Given the description of an element on the screen output the (x, y) to click on. 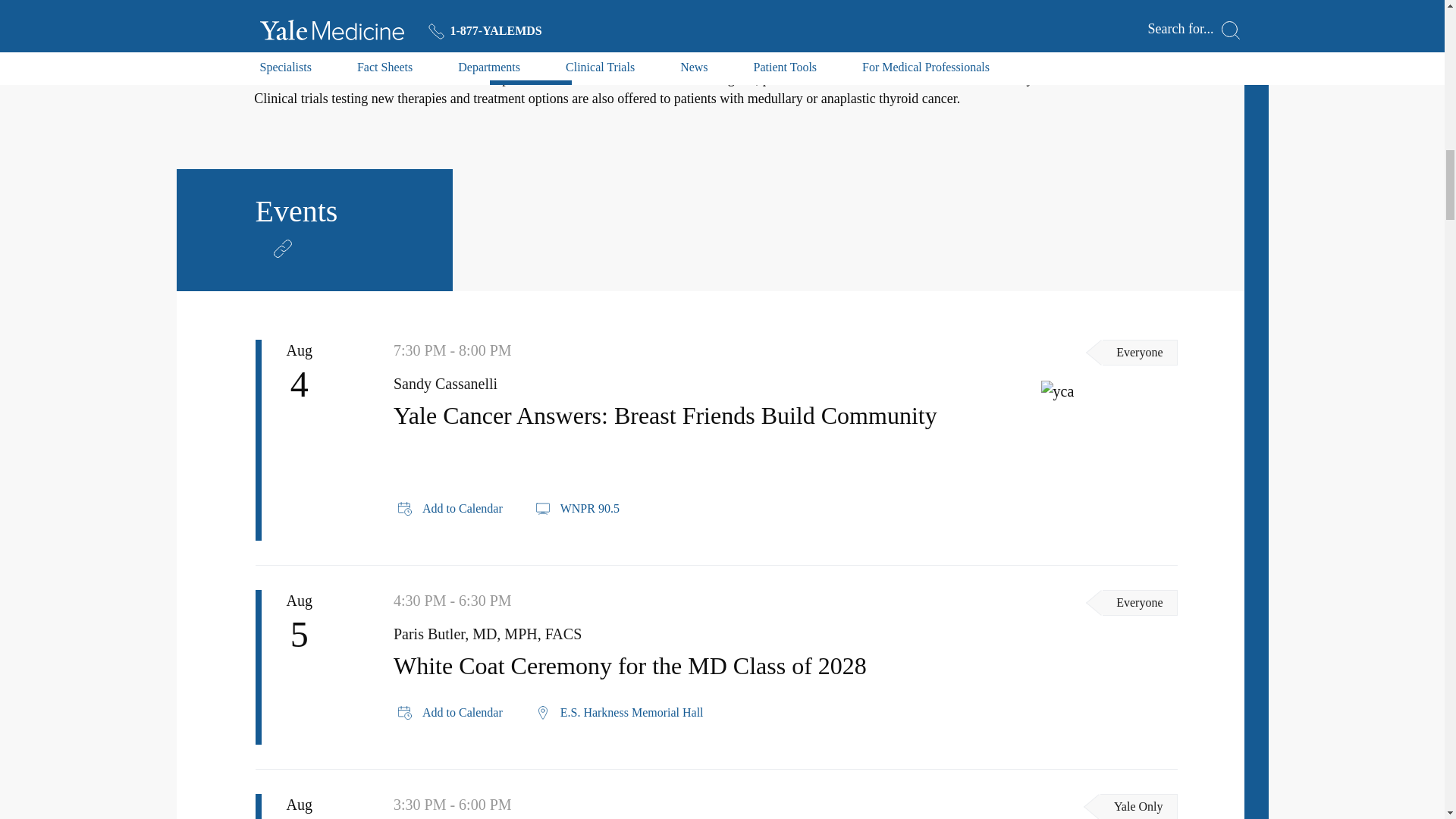
Add to Calendar (449, 712)
Yale Cancer Answers (1108, 391)
E.S. Harkness Memorial Hall (619, 712)
Add to Calendar (449, 508)
